Given the description of an element on the screen output the (x, y) to click on. 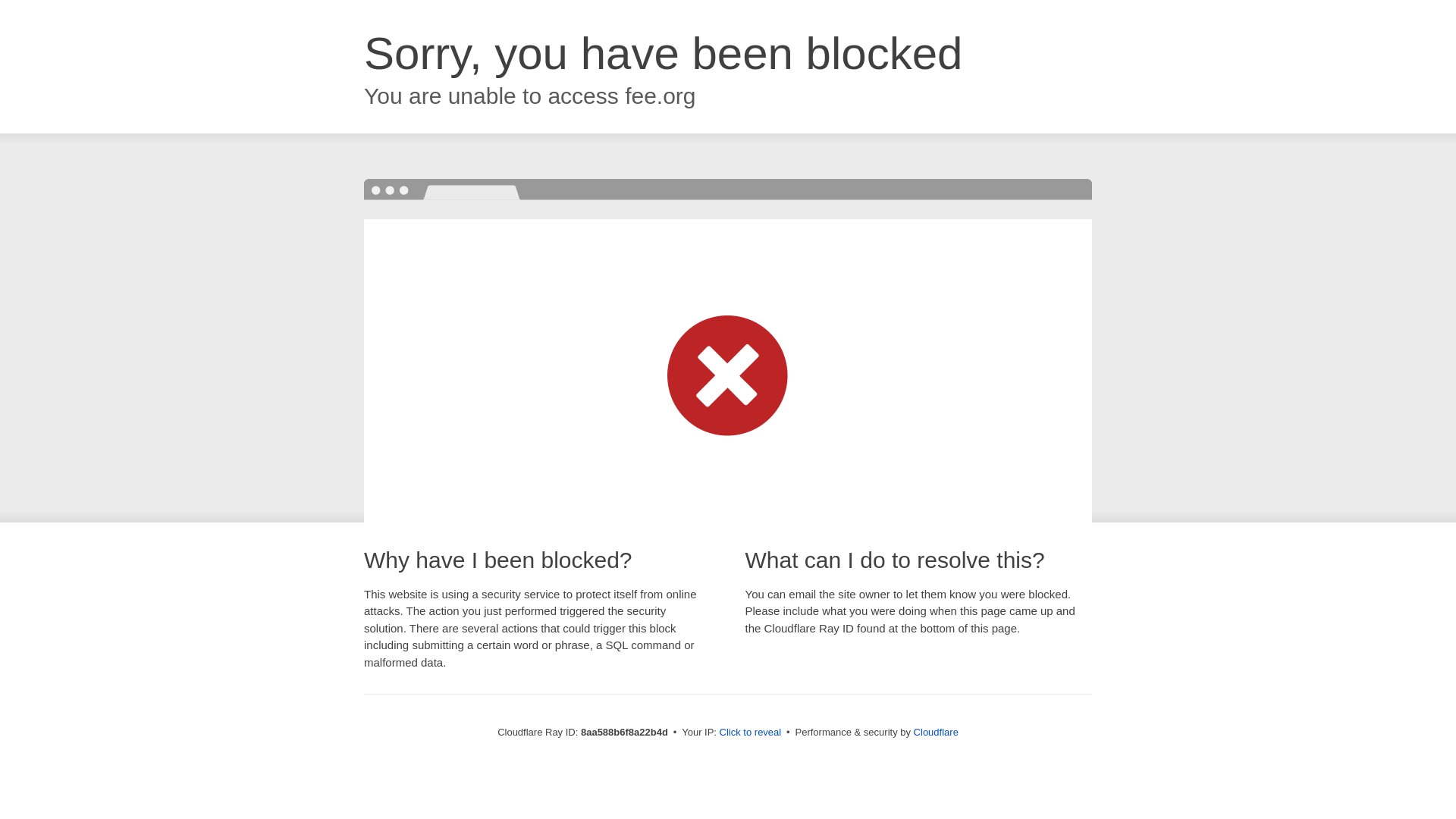
Cloudflare (936, 731)
Click to reveal (750, 732)
